Given the description of an element on the screen output the (x, y) to click on. 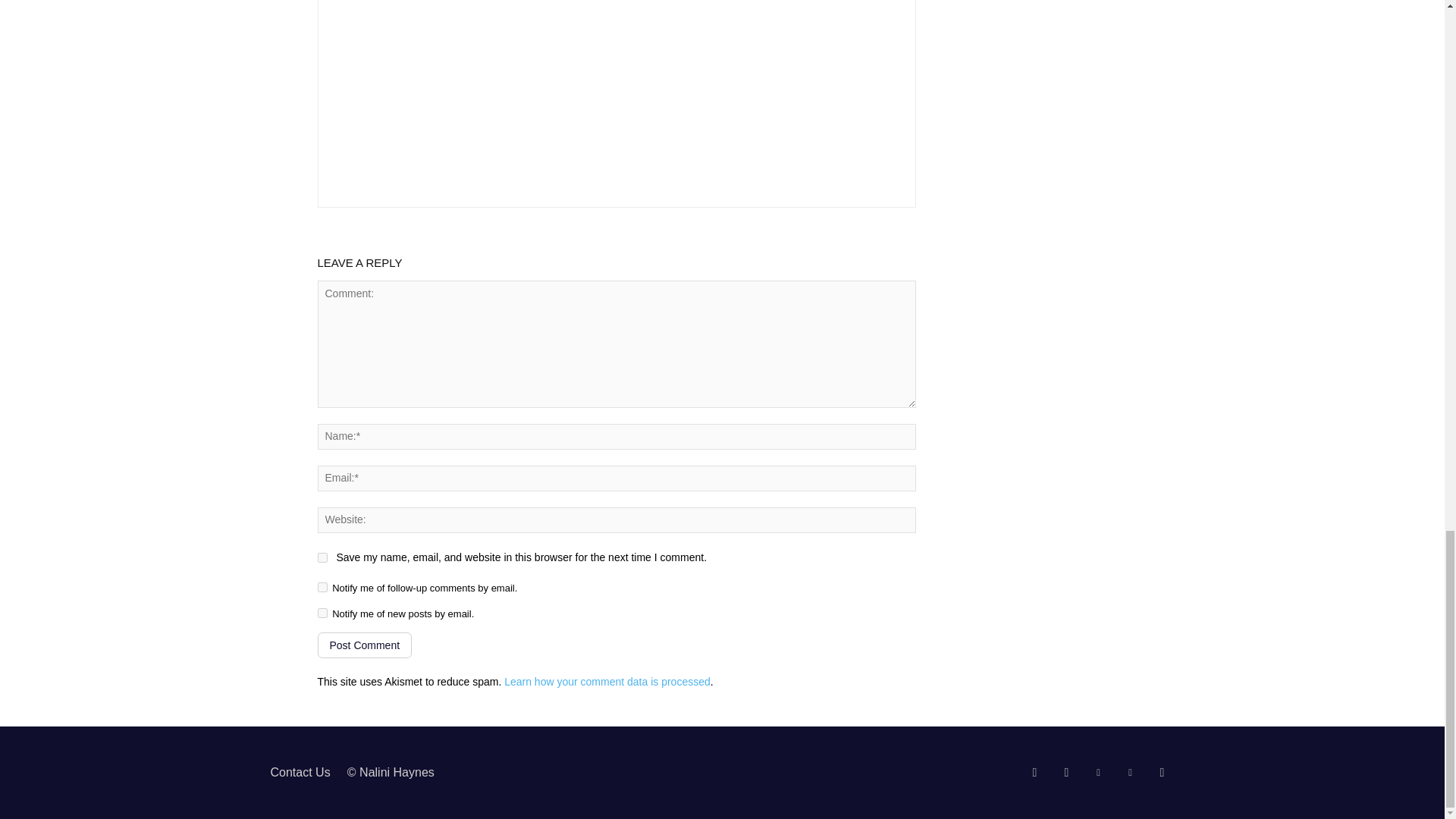
Post Comment (364, 645)
subscribe (321, 587)
subscribe (321, 613)
yes (321, 557)
